Given the description of an element on the screen output the (x, y) to click on. 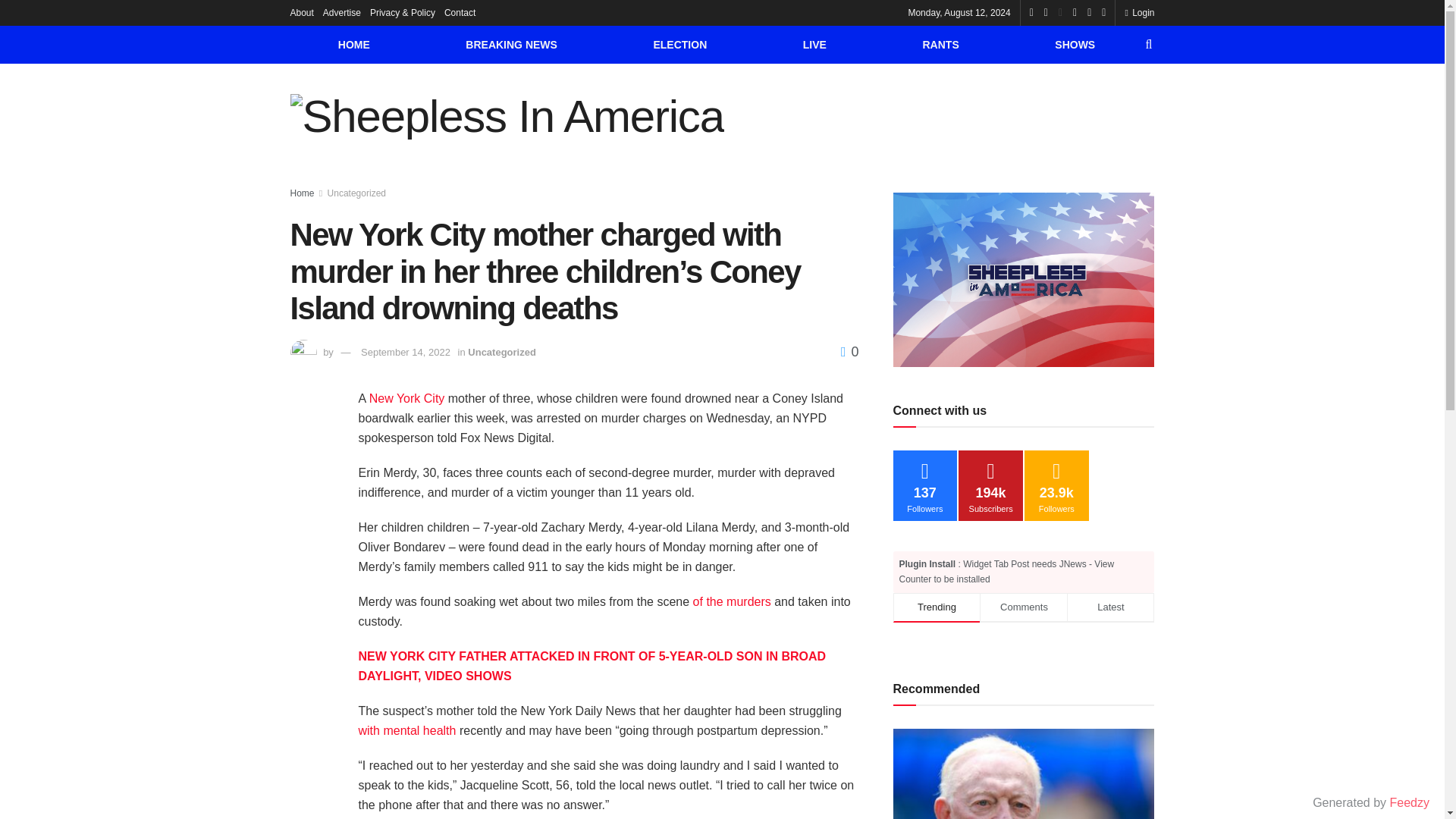
Contact (460, 12)
LIVE (815, 44)
About (301, 12)
BREAKING NEWS (511, 44)
RANTS (941, 44)
Login (1139, 12)
September 14, 2022 (405, 351)
Uncategorized (501, 351)
New York City (407, 398)
of the murders (732, 601)
